Given the description of an element on the screen output the (x, y) to click on. 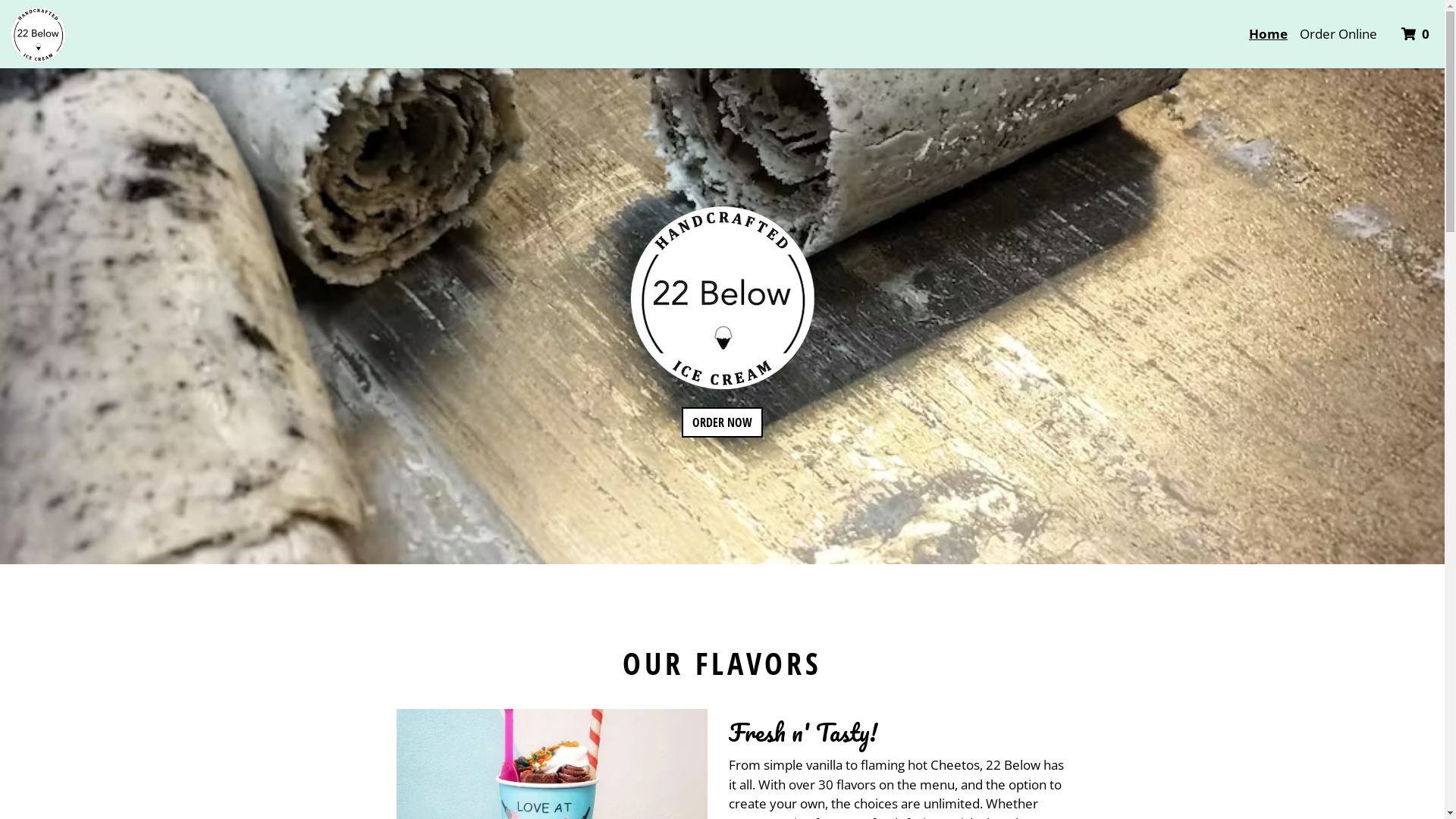
Home Element type: text (1267, 34)
0
 Items In Cart Element type: text (1416, 34)
ORDER NOW Element type: text (721, 422)
Order Online Element type: text (1338, 34)
